Given the description of an element on the screen output the (x, y) to click on. 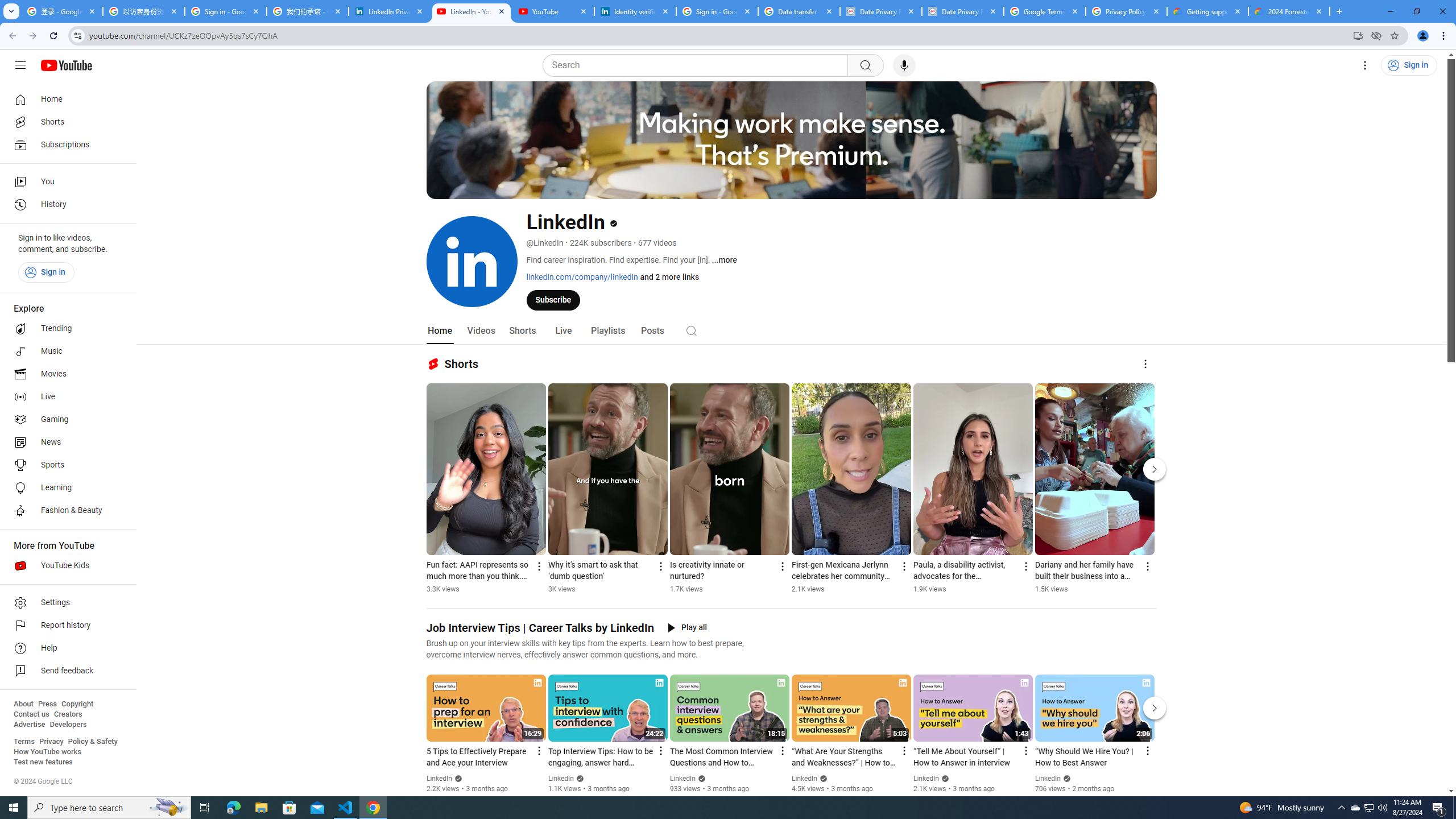
Live (64, 396)
Reload (52, 35)
You (64, 181)
Subscribe (552, 299)
Restore (1416, 11)
Settings (1365, 65)
Copyright (77, 703)
View site information (77, 35)
Contact us (31, 714)
Policy & Safety (91, 741)
Action menu (1146, 750)
History (64, 204)
Report history (64, 625)
